Given the description of an element on the screen output the (x, y) to click on. 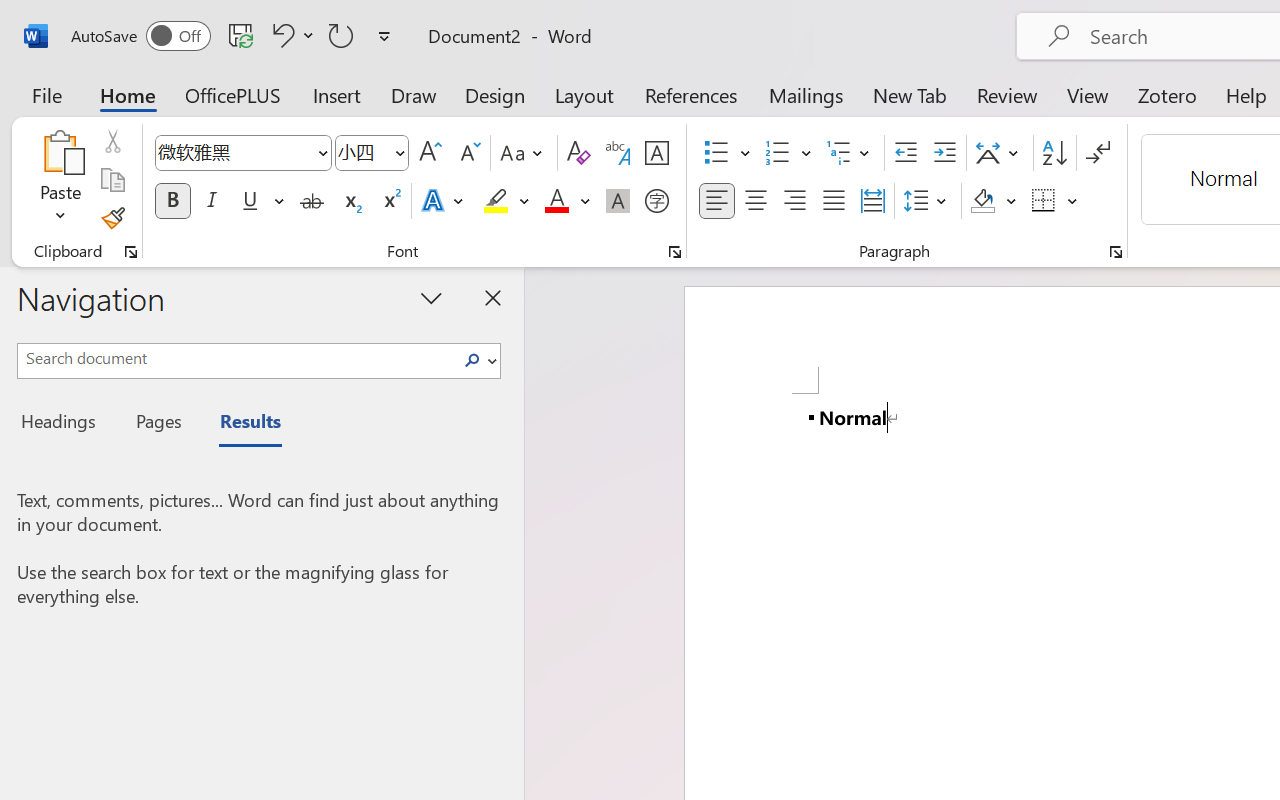
Class: NetUIImage (471, 360)
Customize Quick Access Toolbar (384, 35)
Headings (64, 424)
Save (241, 35)
Copy (112, 179)
AutoSave (140, 35)
Italic (212, 201)
Borders (1055, 201)
Shading (993, 201)
Paste (60, 151)
Paragraph... (1115, 252)
Paste (60, 179)
Pages (156, 424)
